Given the description of an element on the screen output the (x, y) to click on. 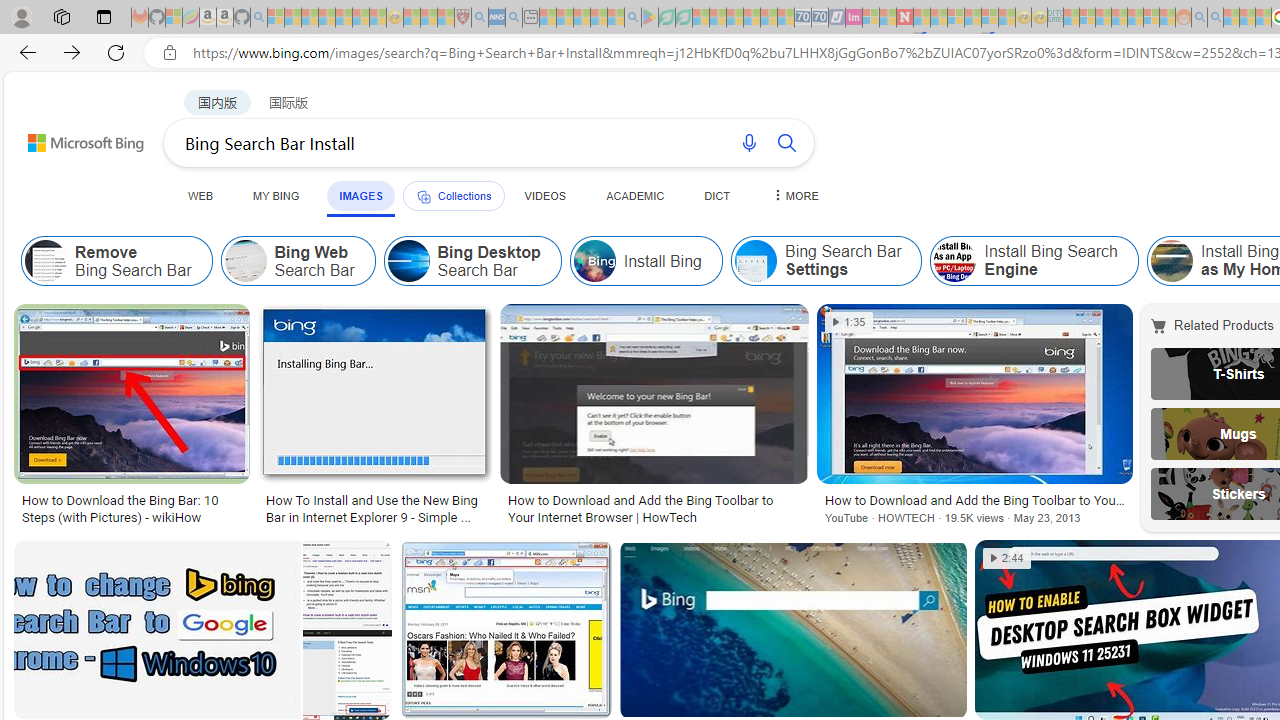
ACADEMIC (635, 195)
Search using voice (748, 142)
MY BING (276, 195)
